Given the description of an element on the screen output the (x, y) to click on. 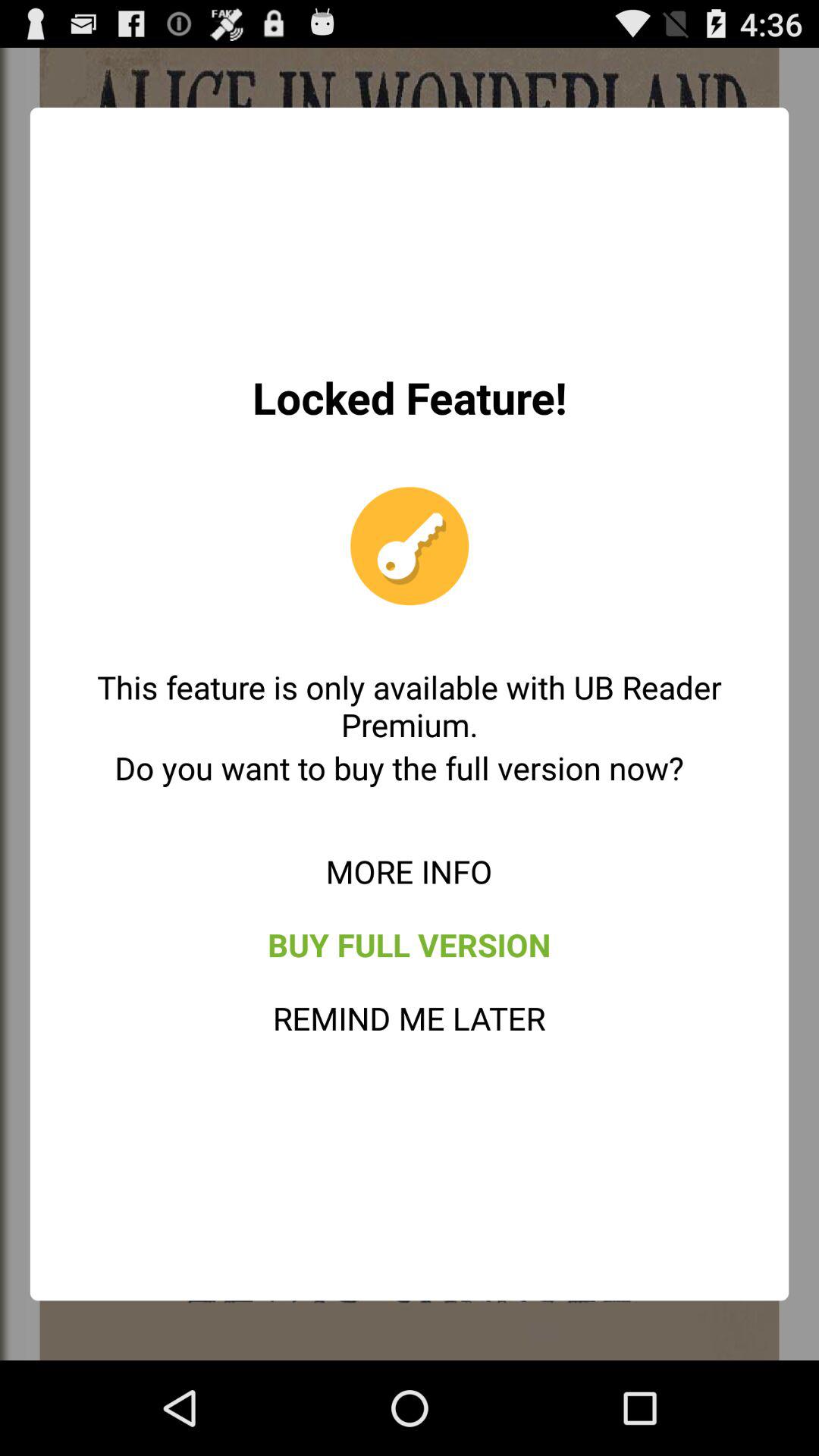
tap the app above the buy full version app (408, 870)
